Given the description of an element on the screen output the (x, y) to click on. 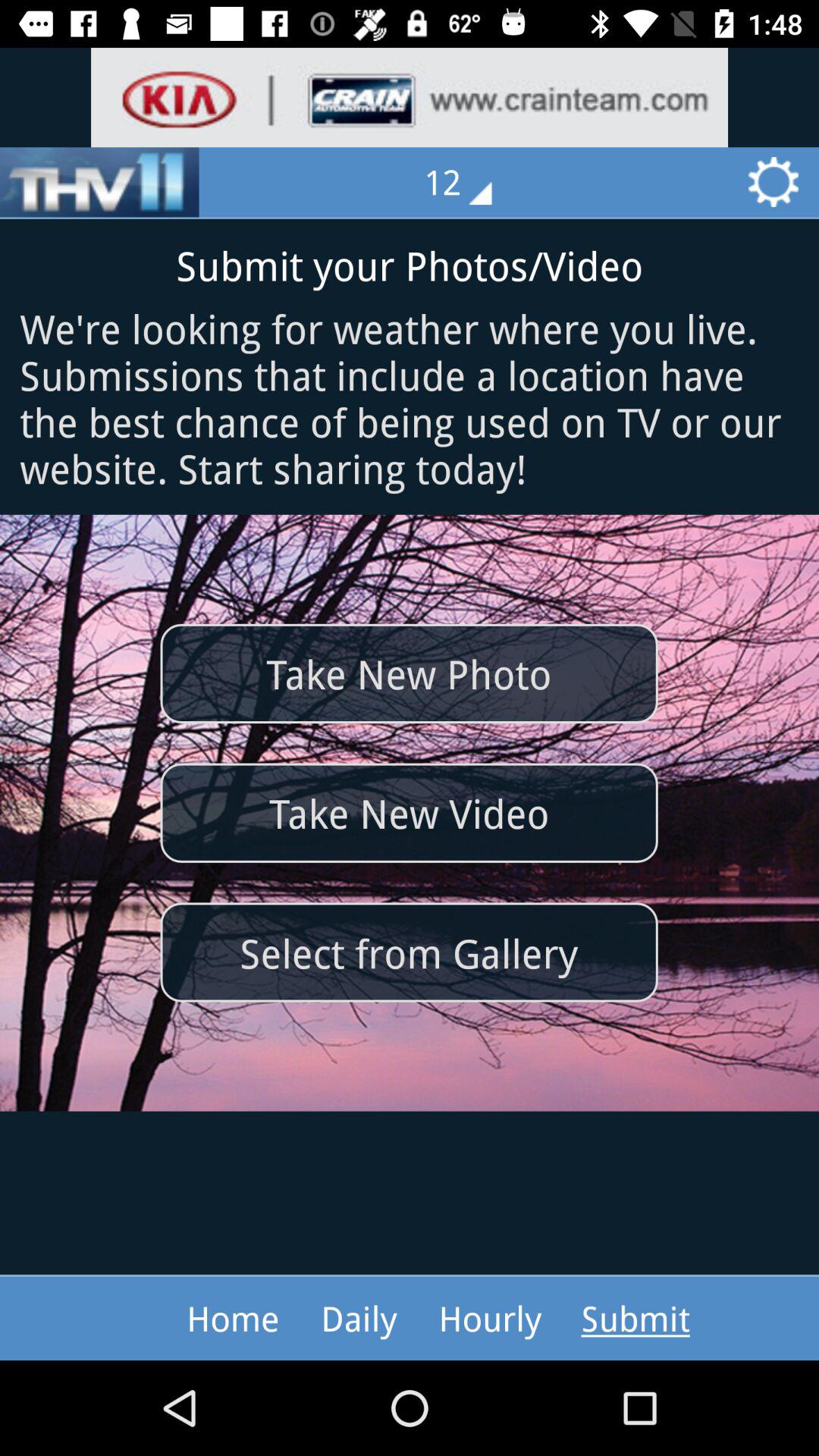
swipe to 12 item (468, 182)
